Given the description of an element on the screen output the (x, y) to click on. 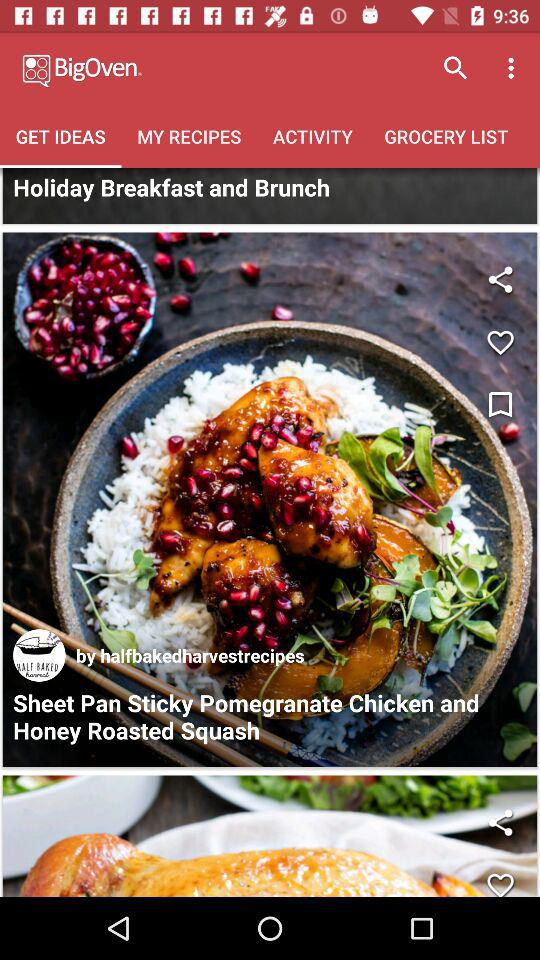
share recipe (500, 822)
